Given the description of an element on the screen output the (x, y) to click on. 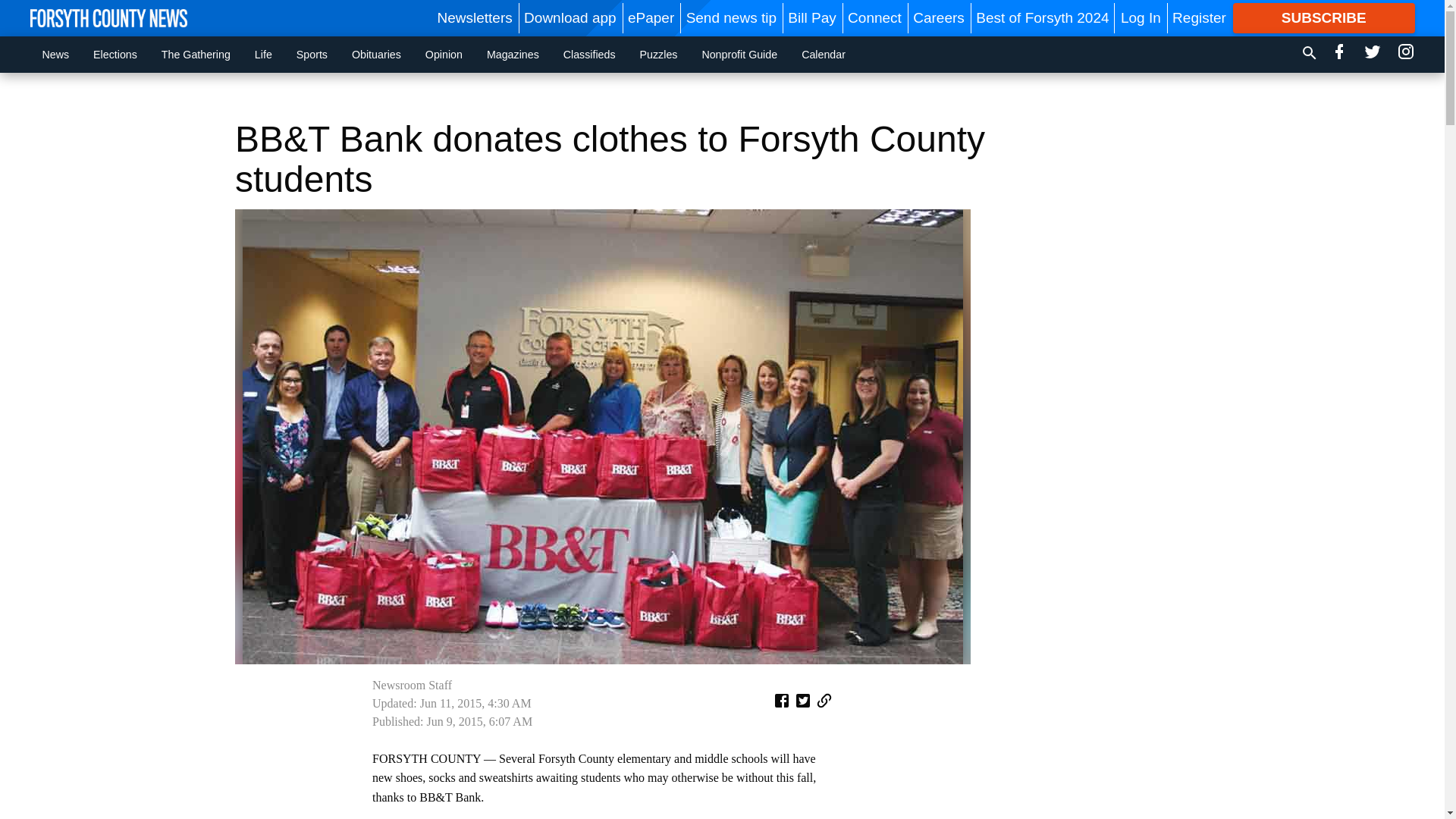
Connect (874, 17)
ePaper (650, 17)
Newsletters (474, 17)
Puzzles (658, 54)
Calendar (823, 54)
Careers (937, 17)
Log In (1140, 17)
SUBSCRIBE (1324, 18)
3rd party ad content (722, 96)
Classifieds (589, 54)
Sports (311, 54)
Elections (115, 54)
Nonprofit Guide (738, 54)
News (55, 54)
Opinion (443, 54)
